Given the description of an element on the screen output the (x, y) to click on. 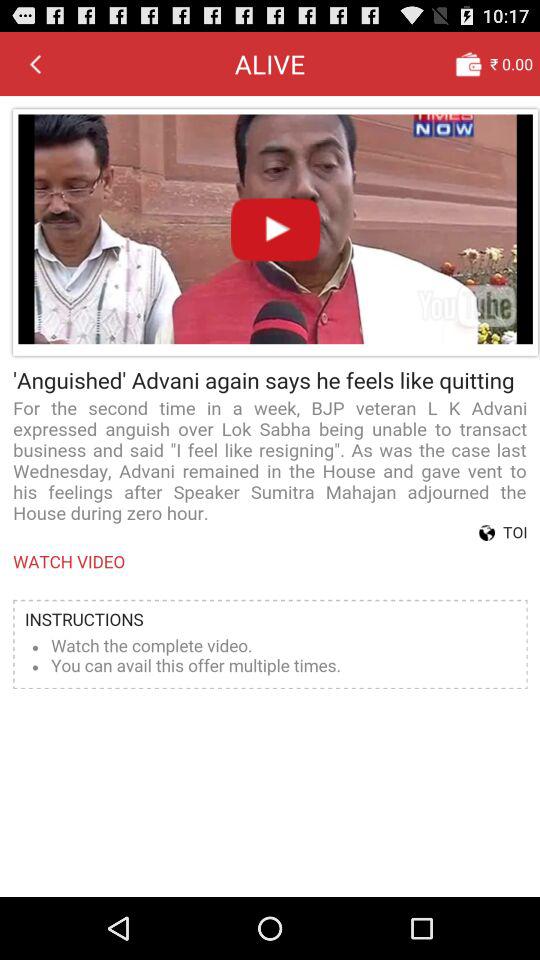
go back (35, 63)
